Given the description of an element on the screen output the (x, y) to click on. 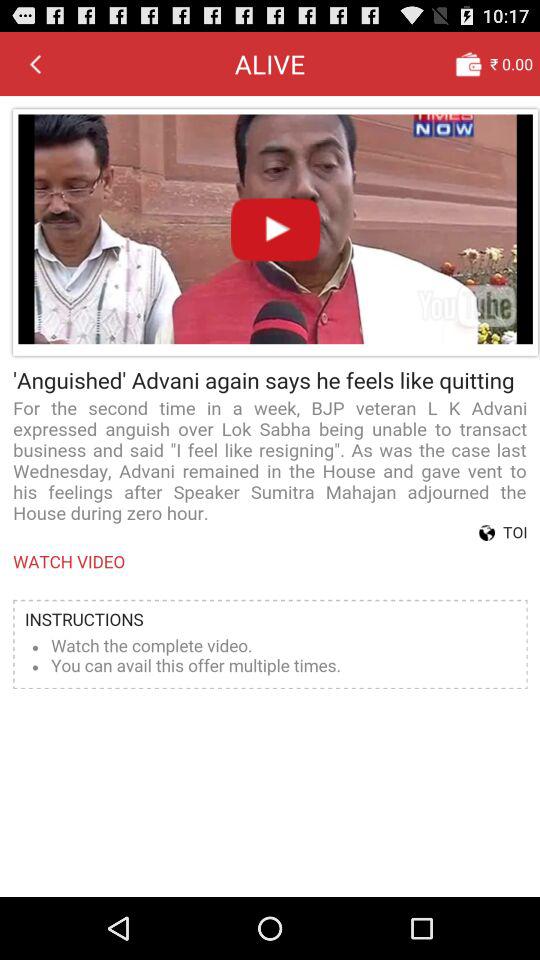
go back (35, 63)
